Given the description of an element on the screen output the (x, y) to click on. 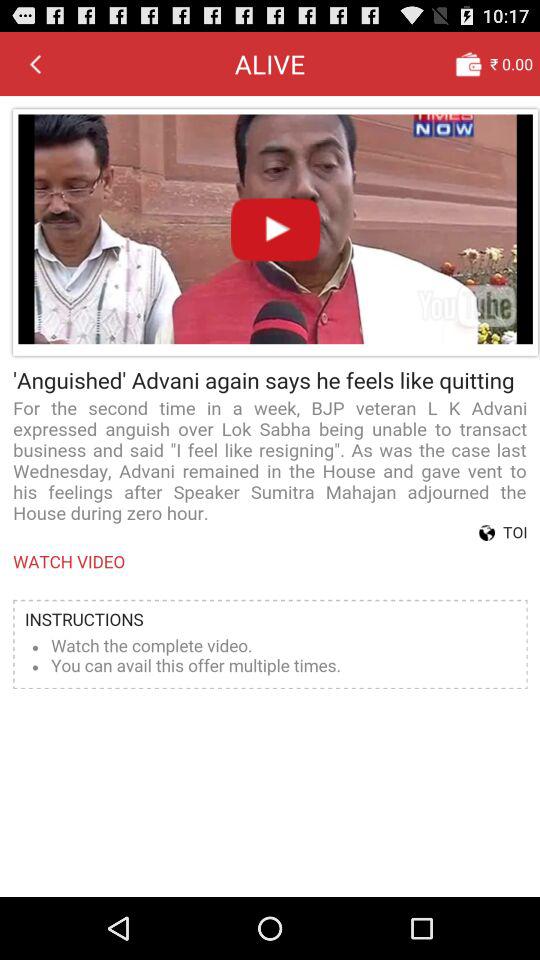
go back (35, 63)
